Given the description of an element on the screen output the (x, y) to click on. 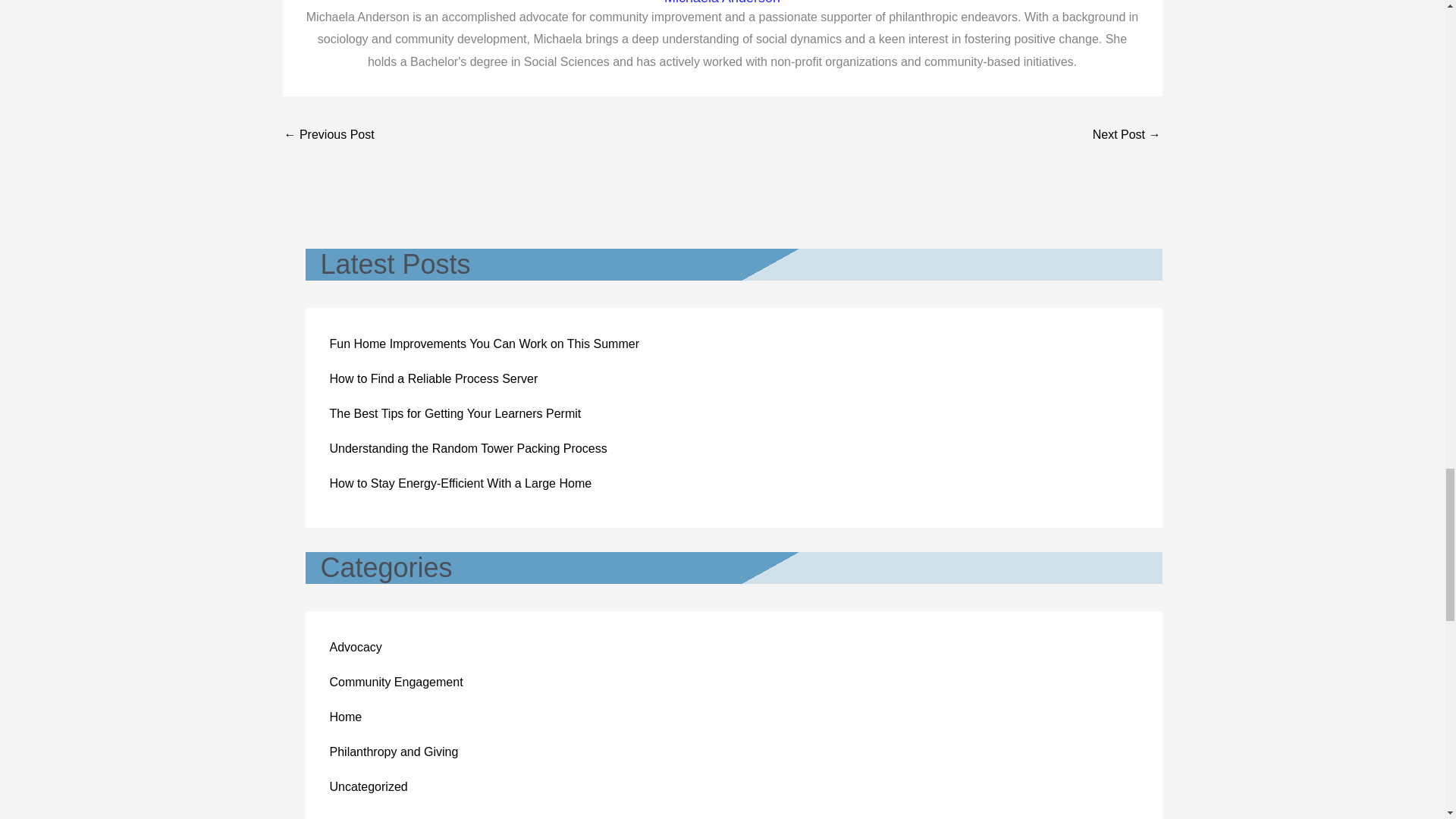
Uncategorized (368, 786)
Advocacy (355, 646)
How to Stay Energy-Efficient With a Large Home (460, 482)
Ways to Boost Your Memory and Concentration (1126, 135)
Home (345, 716)
Community Engagement (396, 681)
Fun Home Improvements You Can Work on This Summer (484, 343)
The Best Tips for Getting Your Learners Permit (454, 413)
Philanthropy and Giving (393, 751)
